Given the description of an element on the screen output the (x, y) to click on. 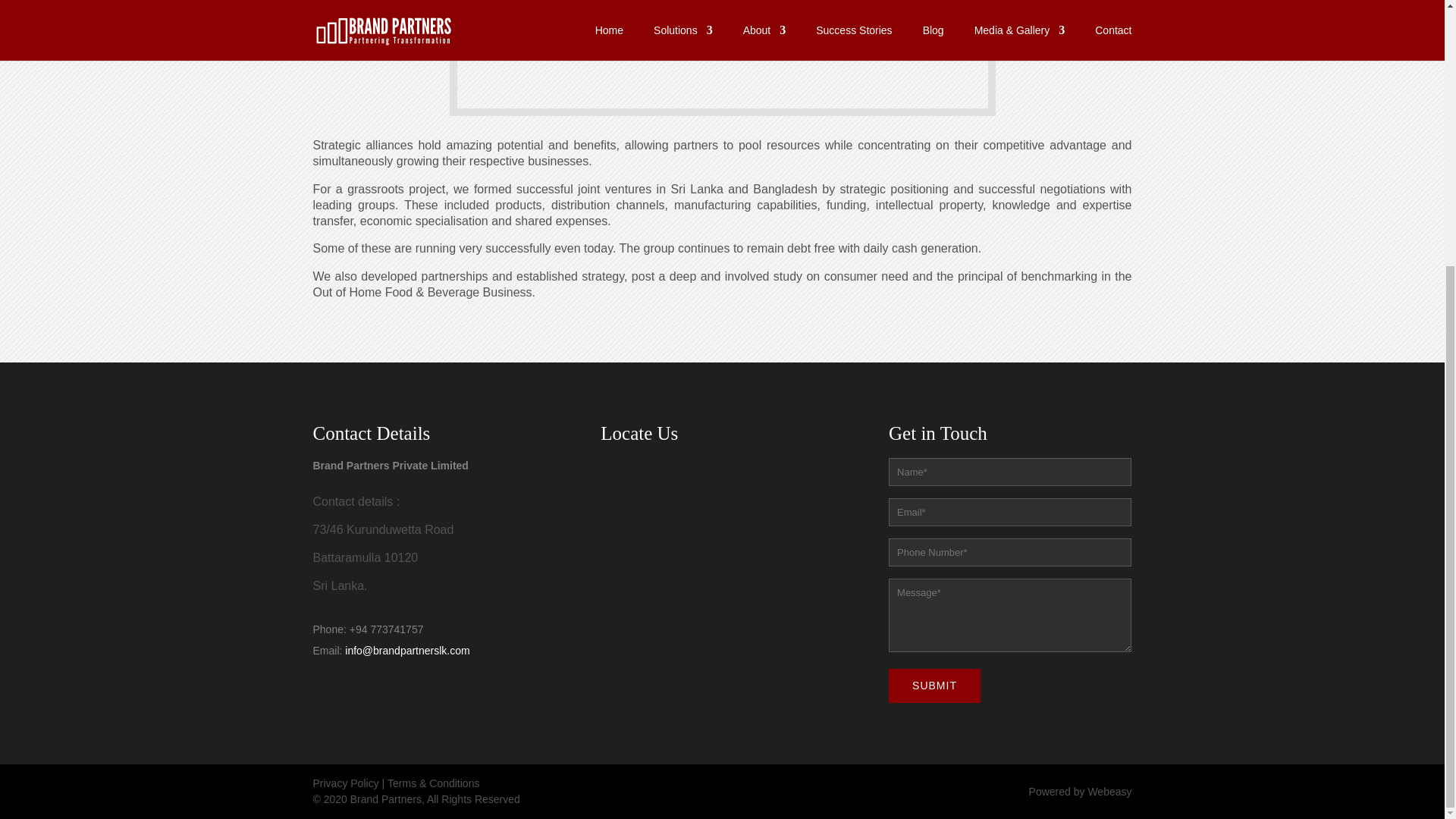
success-story-img-new (722, 54)
Submit (933, 686)
Privacy Policy (345, 783)
Webeasy (1109, 791)
Submit (933, 686)
